Given the description of an element on the screen output the (x, y) to click on. 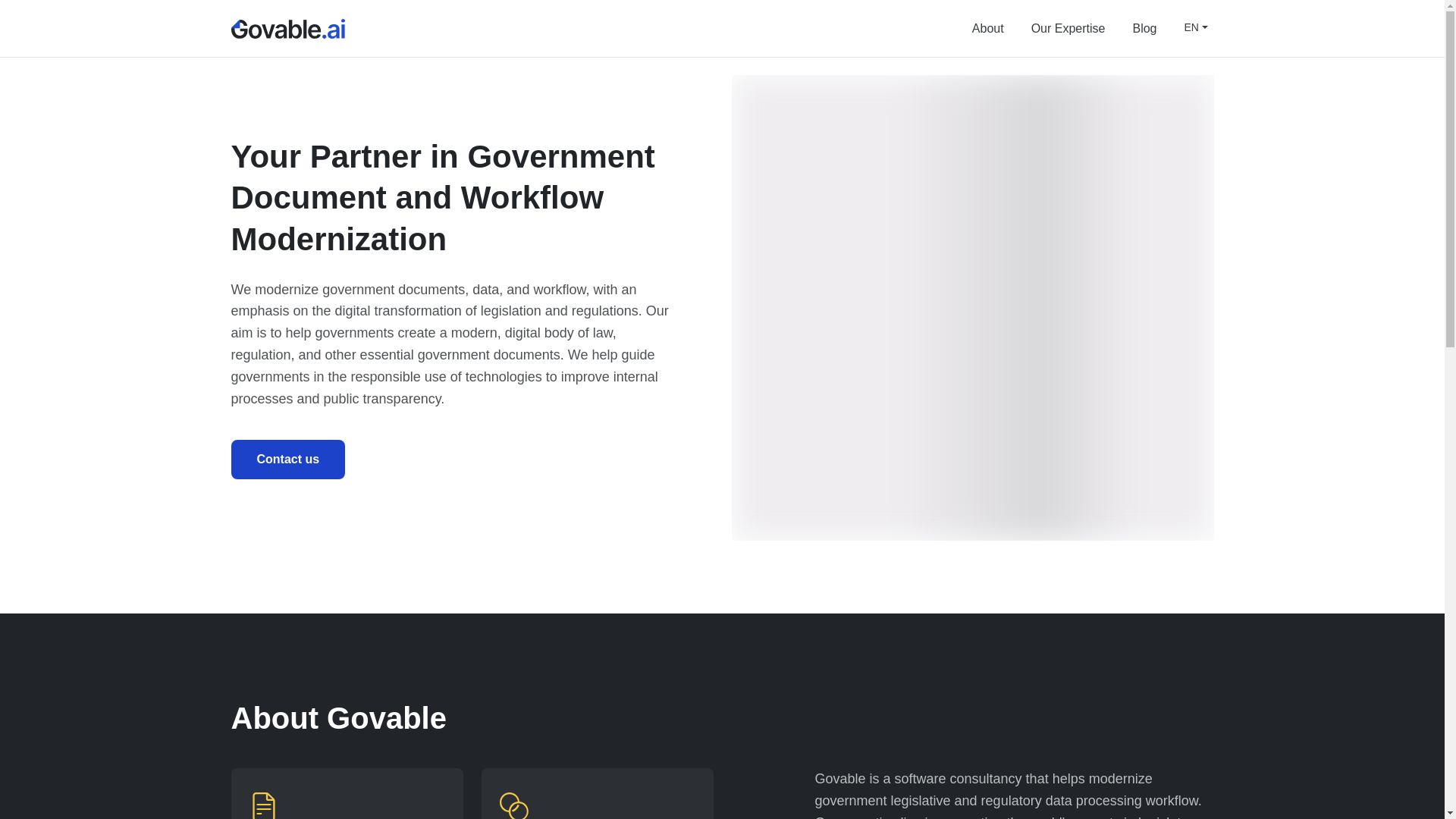
Govable.ai (286, 28)
EN (1191, 26)
Blog (1144, 28)
Our Expertise (1068, 28)
Contact us (287, 459)
About (987, 28)
